Given the description of an element on the screen output the (x, y) to click on. 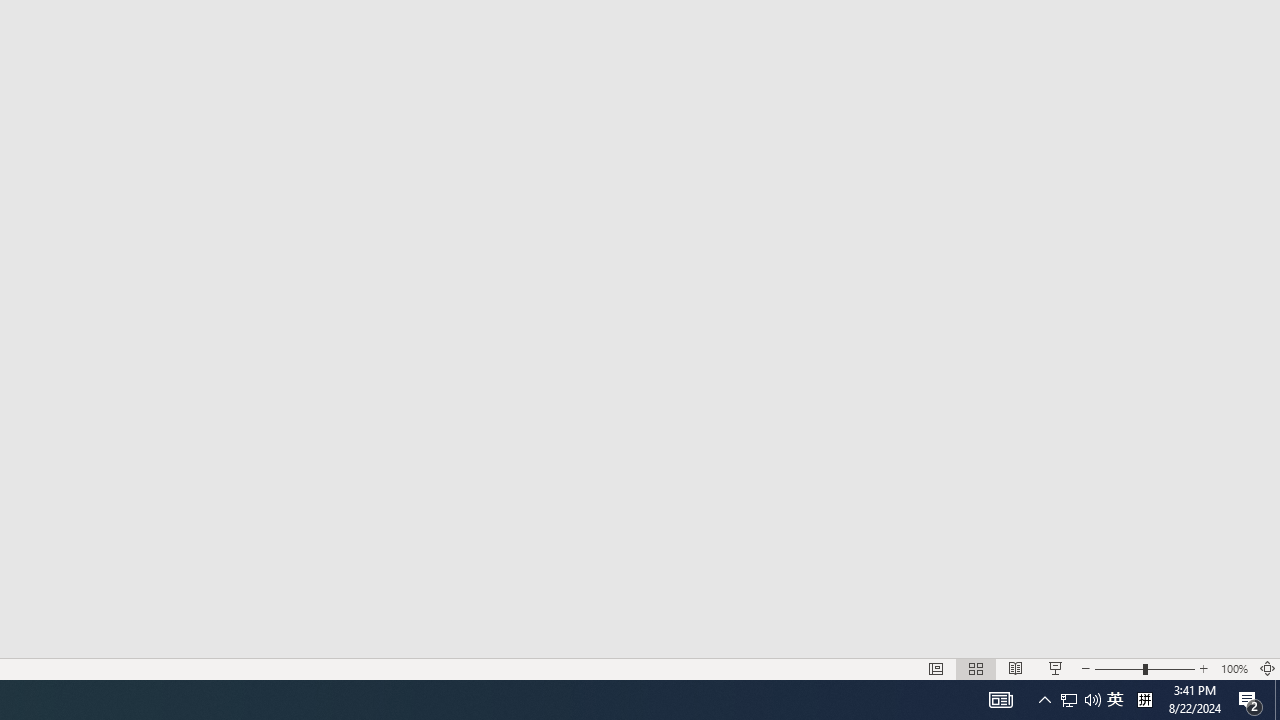
Zoom 100% (1234, 668)
